Given the description of an element on the screen output the (x, y) to click on. 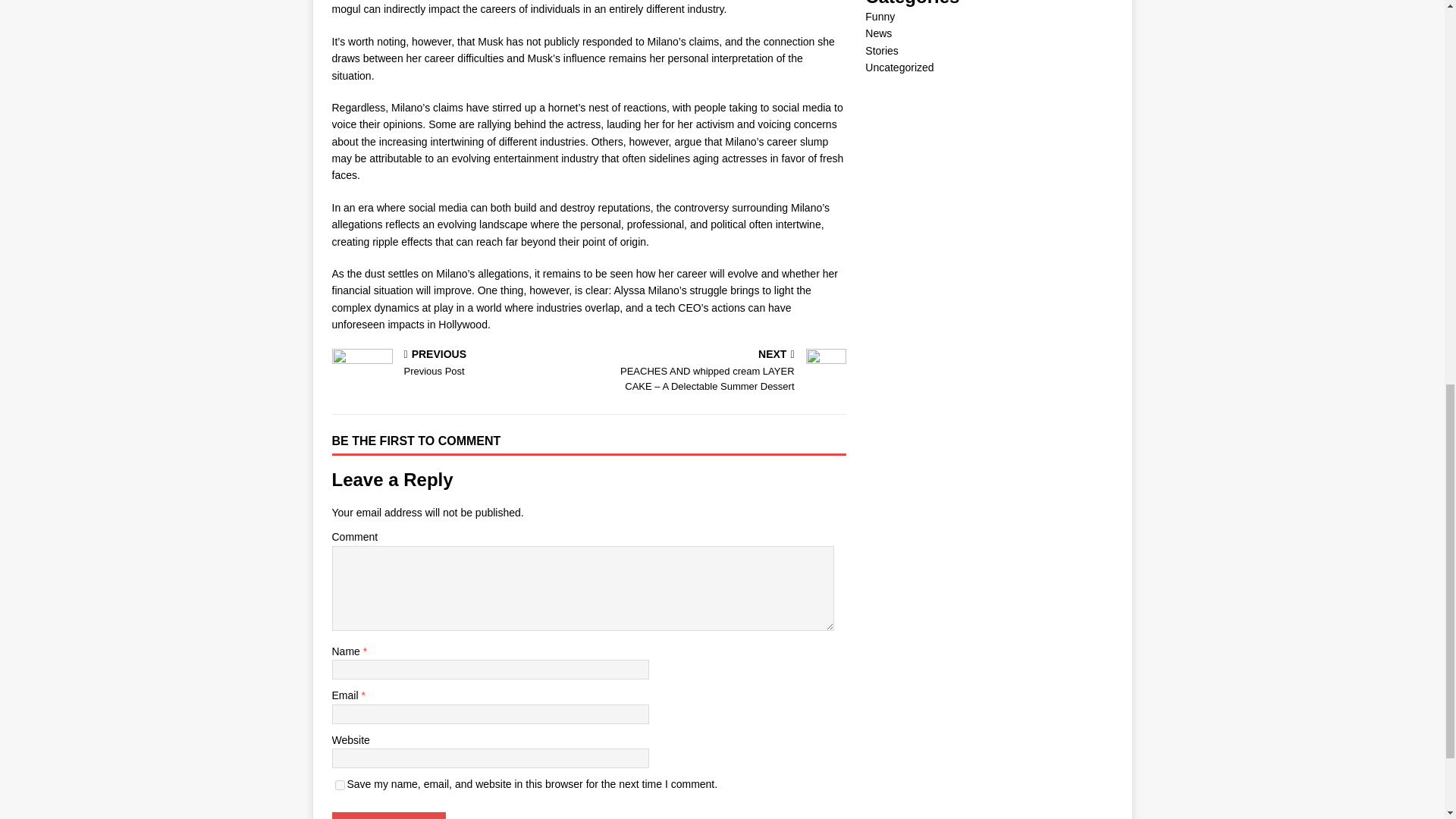
Uncategorized (898, 67)
Post Comment (457, 364)
News (388, 815)
Funny (877, 33)
Post Comment (879, 16)
Stories (388, 815)
yes (881, 50)
